Given the description of an element on the screen output the (x, y) to click on. 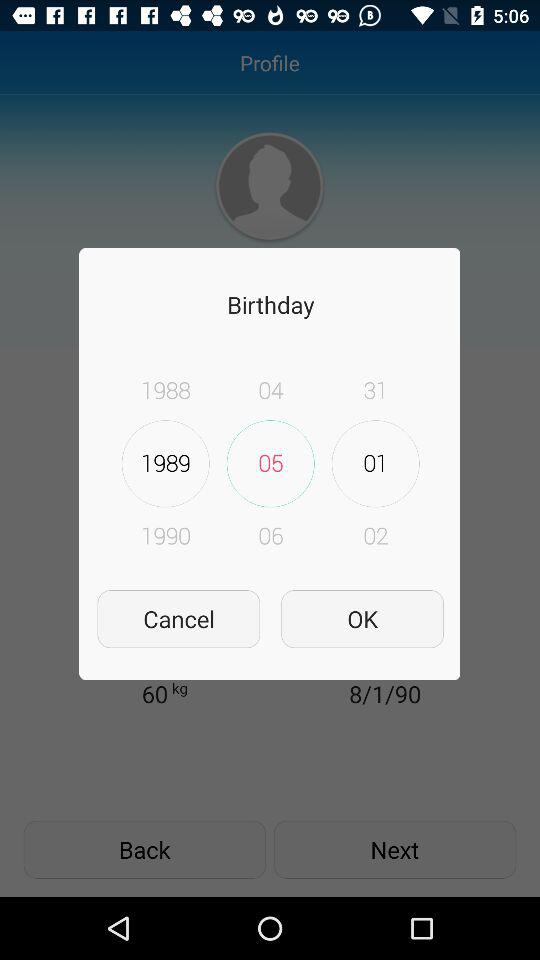
launch item to the right of the cancel icon (362, 618)
